Given the description of an element on the screen output the (x, y) to click on. 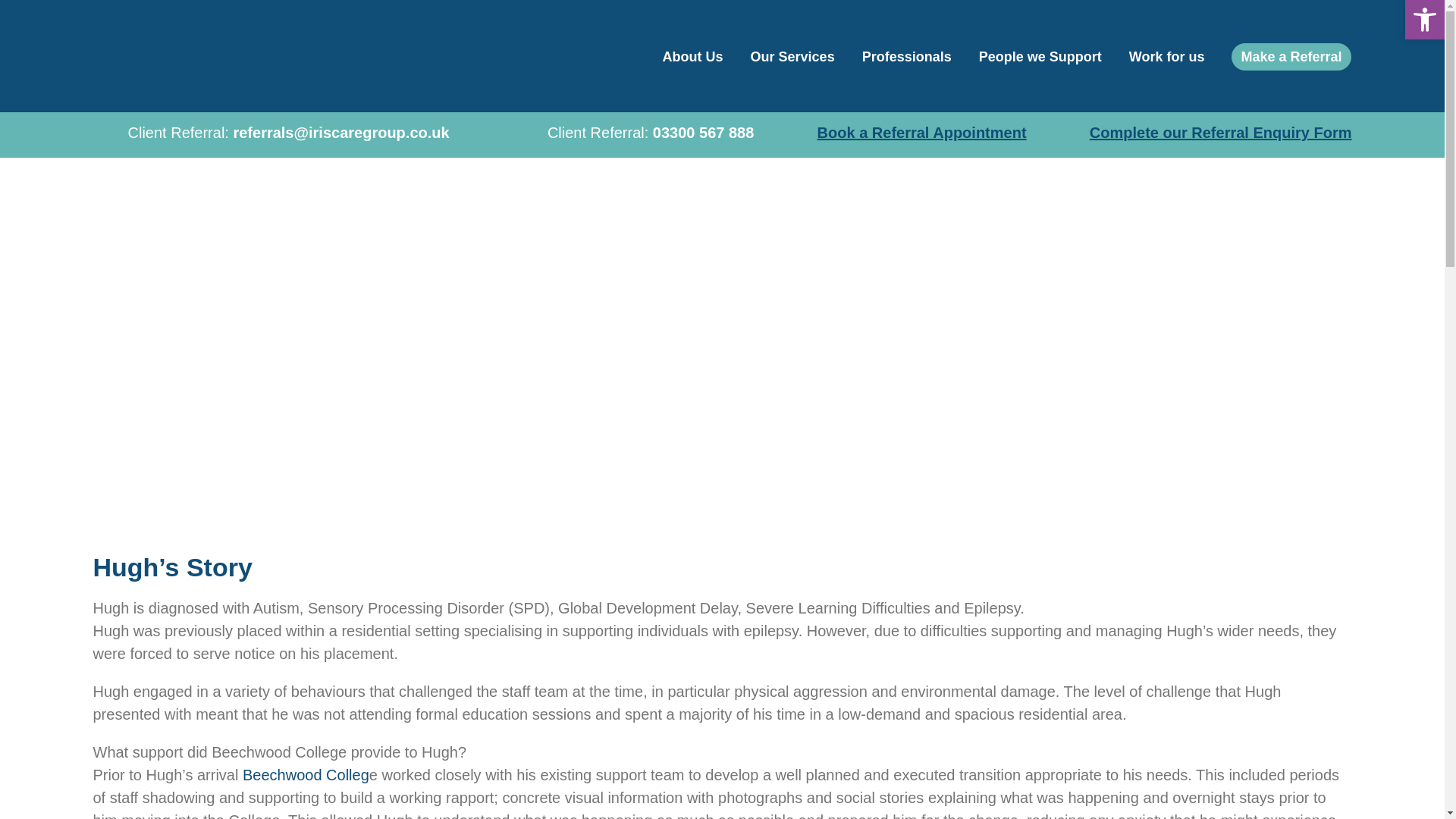
Client Referral: (633, 134)
Accessibility Tools (1424, 19)
Iris Care Group (227, 55)
Client Referral: (270, 134)
